Given the description of an element on the screen output the (x, y) to click on. 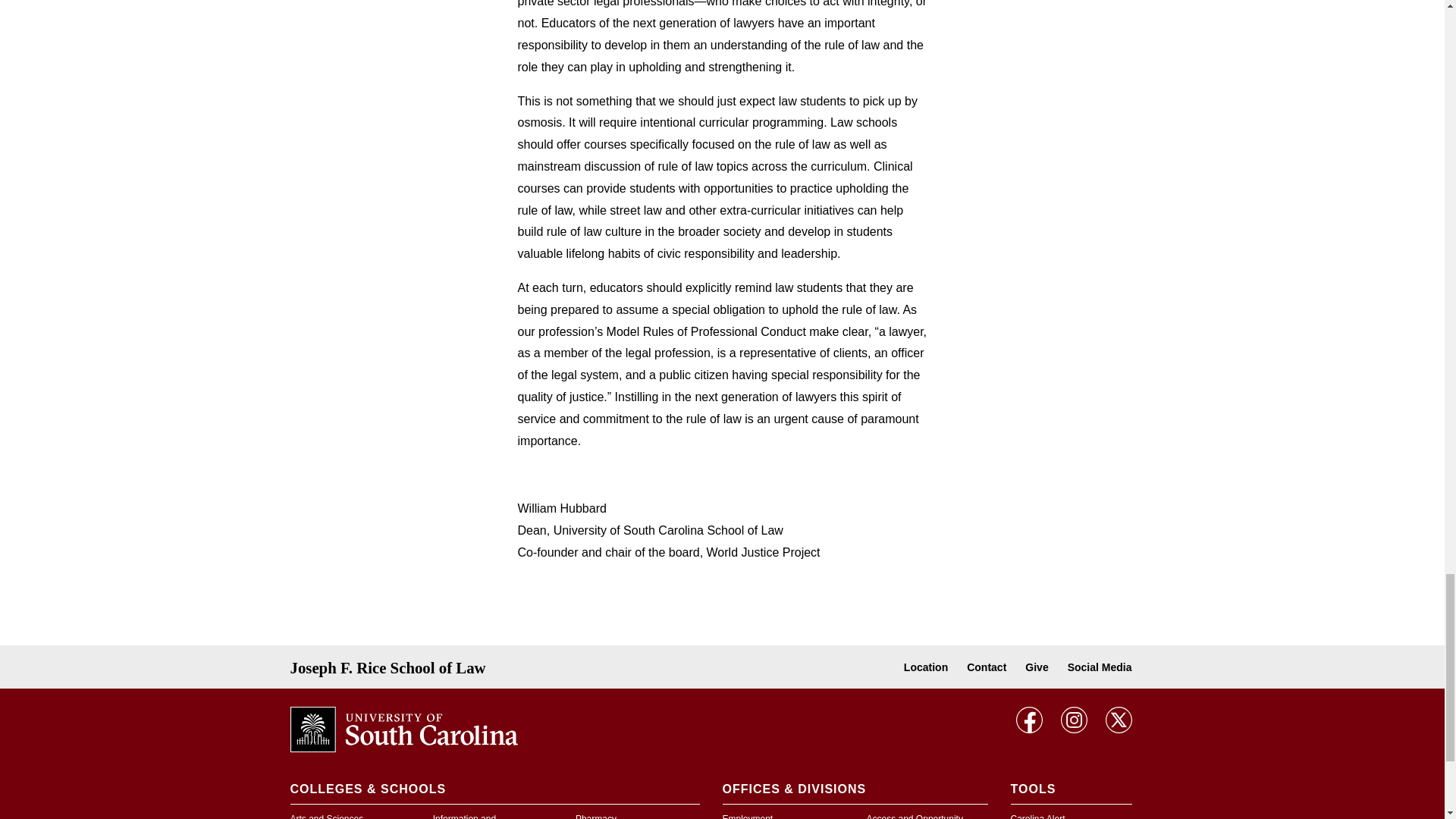
University of South Carolina (402, 727)
